Given the description of an element on the screen output the (x, y) to click on. 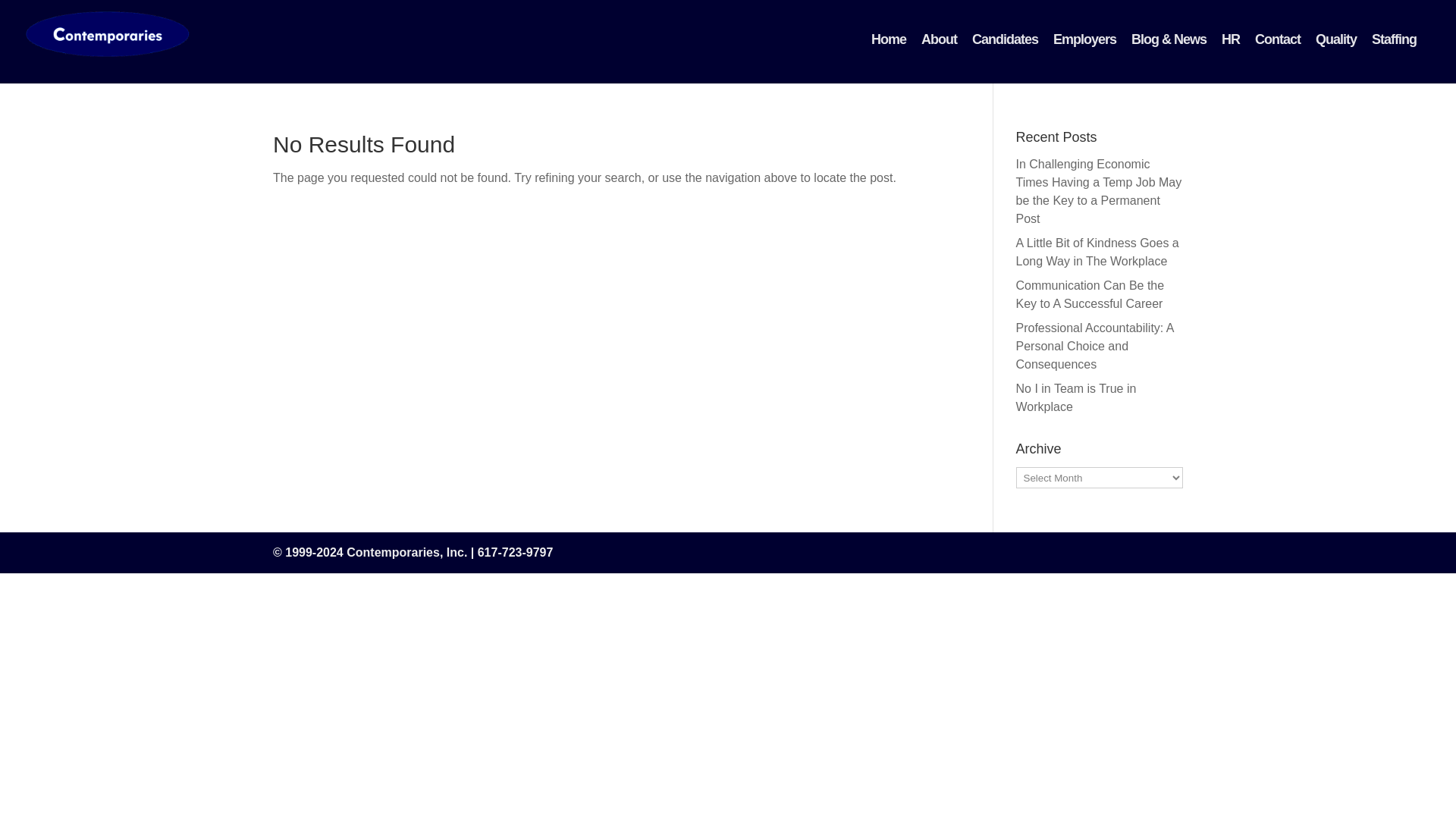
Quality (1335, 39)
Candidates (1004, 39)
Home (888, 39)
A Little Bit of Kindness Goes a Long Way in The Workplace (1097, 251)
HR (1230, 39)
About (938, 39)
Staffing (1393, 39)
Contact (1277, 39)
